Given the description of an element on the screen output the (x, y) to click on. 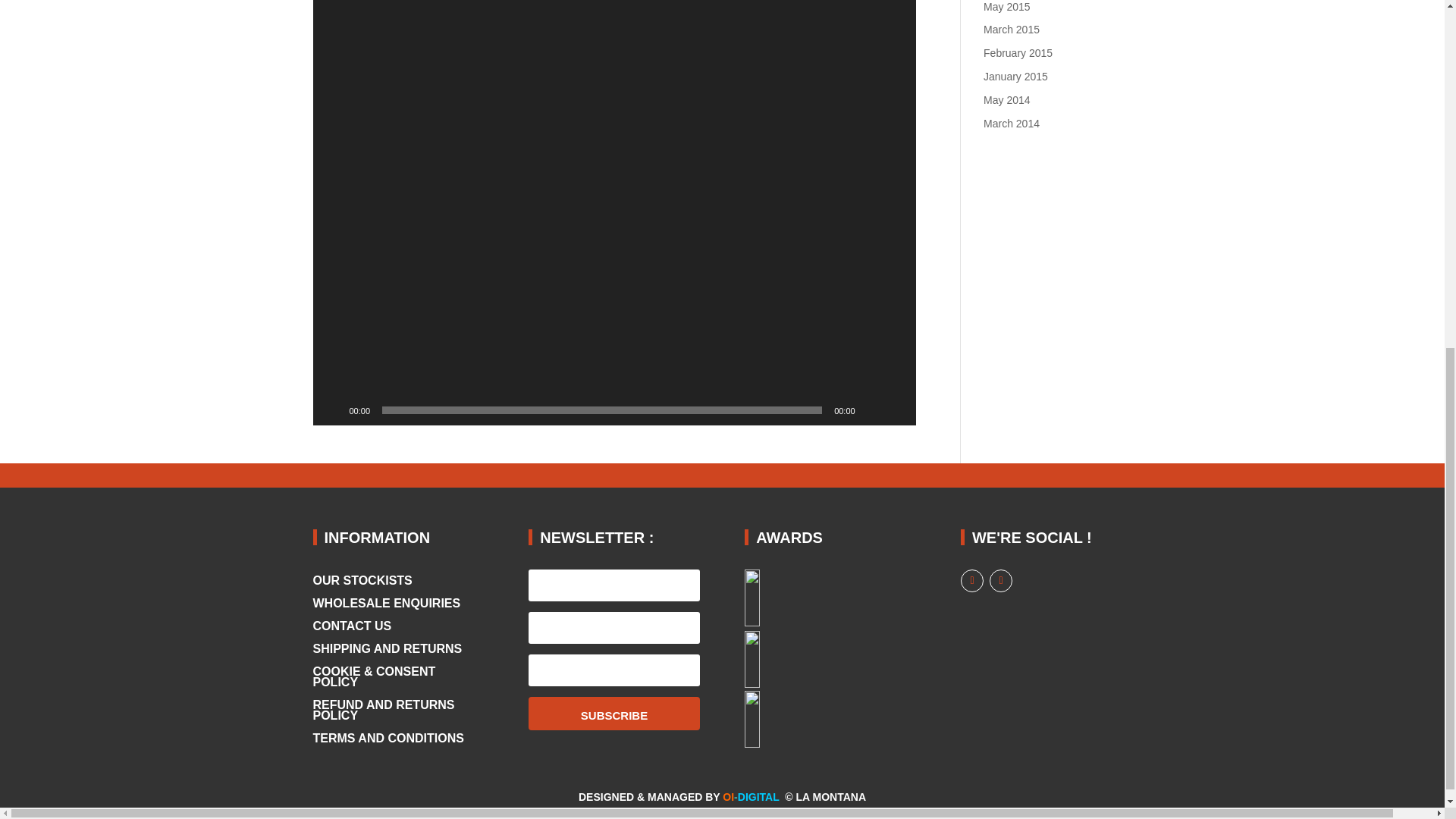
Fullscreen (896, 409)
Mute (871, 409)
Follow on Instagram (1000, 580)
Play (331, 409)
La Montana Awards -Corporate LiveWire London 2021 (811, 658)
Follow on Facebook (972, 580)
La Montana Awards - Southern Enterprise 2021 (811, 597)
